Given the description of an element on the screen output the (x, y) to click on. 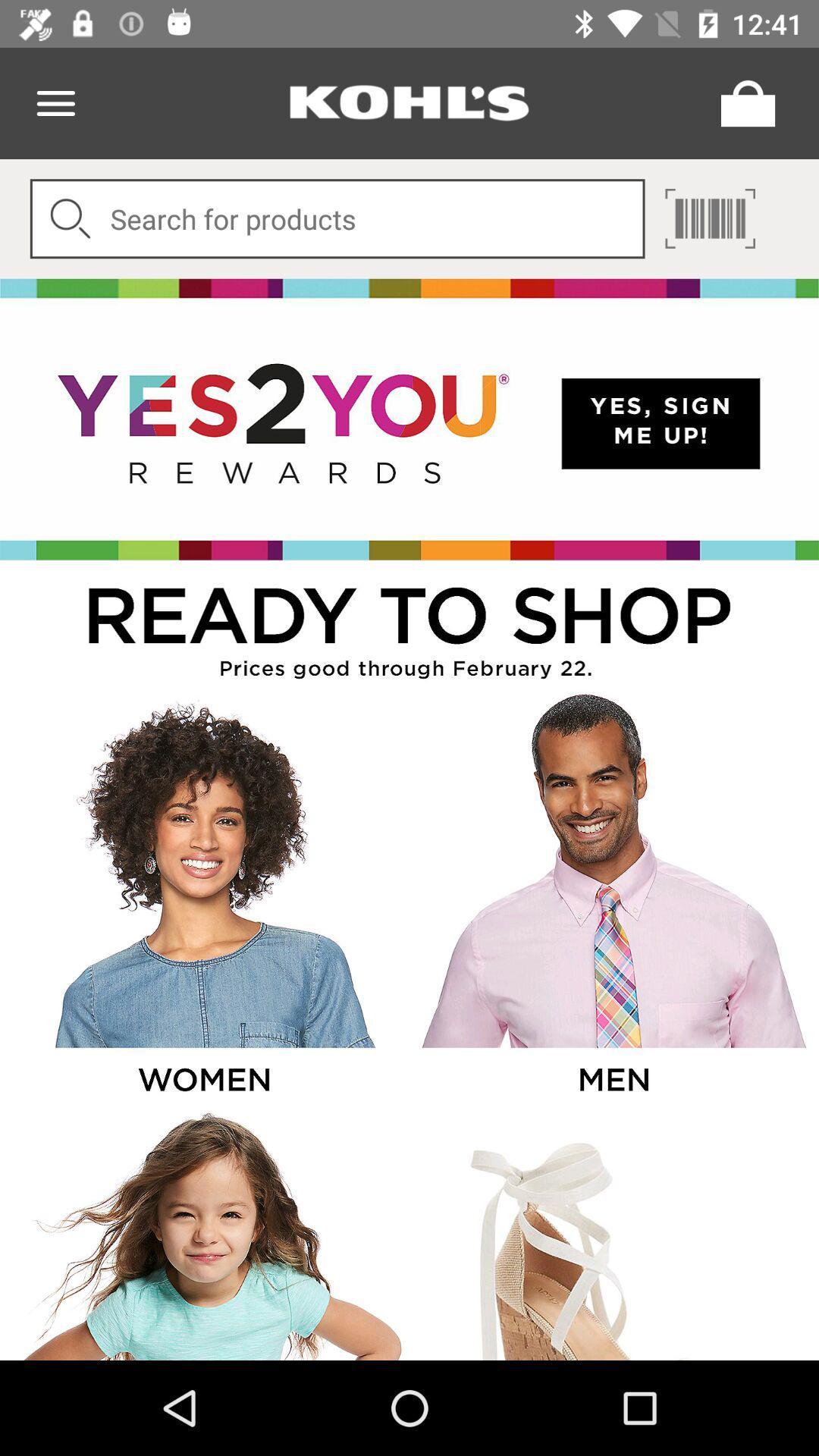
menu page (55, 103)
